Given the description of an element on the screen output the (x, y) to click on. 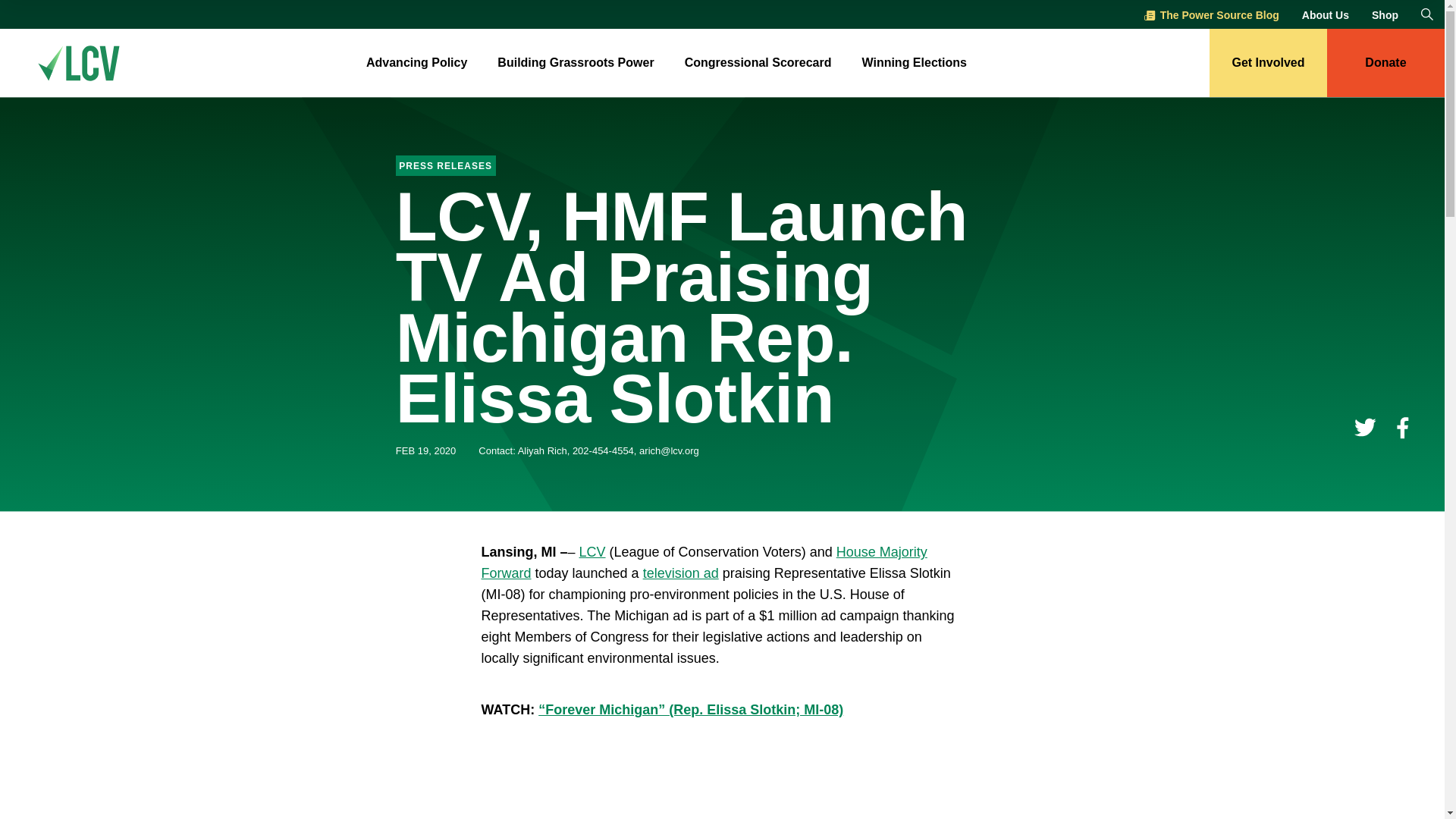
Advancing Policy (416, 63)
Congressional Scorecard (757, 63)
Get Involved (1267, 62)
Building Grassroots Power (575, 63)
The Power Source Blog (1211, 15)
Winning Elections (913, 63)
television ad (681, 572)
About Us (1325, 15)
LCV (592, 551)
House Majority Forward (703, 562)
Shop (1384, 15)
PRESS RELEASES (446, 164)
Press Releases (446, 164)
